Given the description of an element on the screen output the (x, y) to click on. 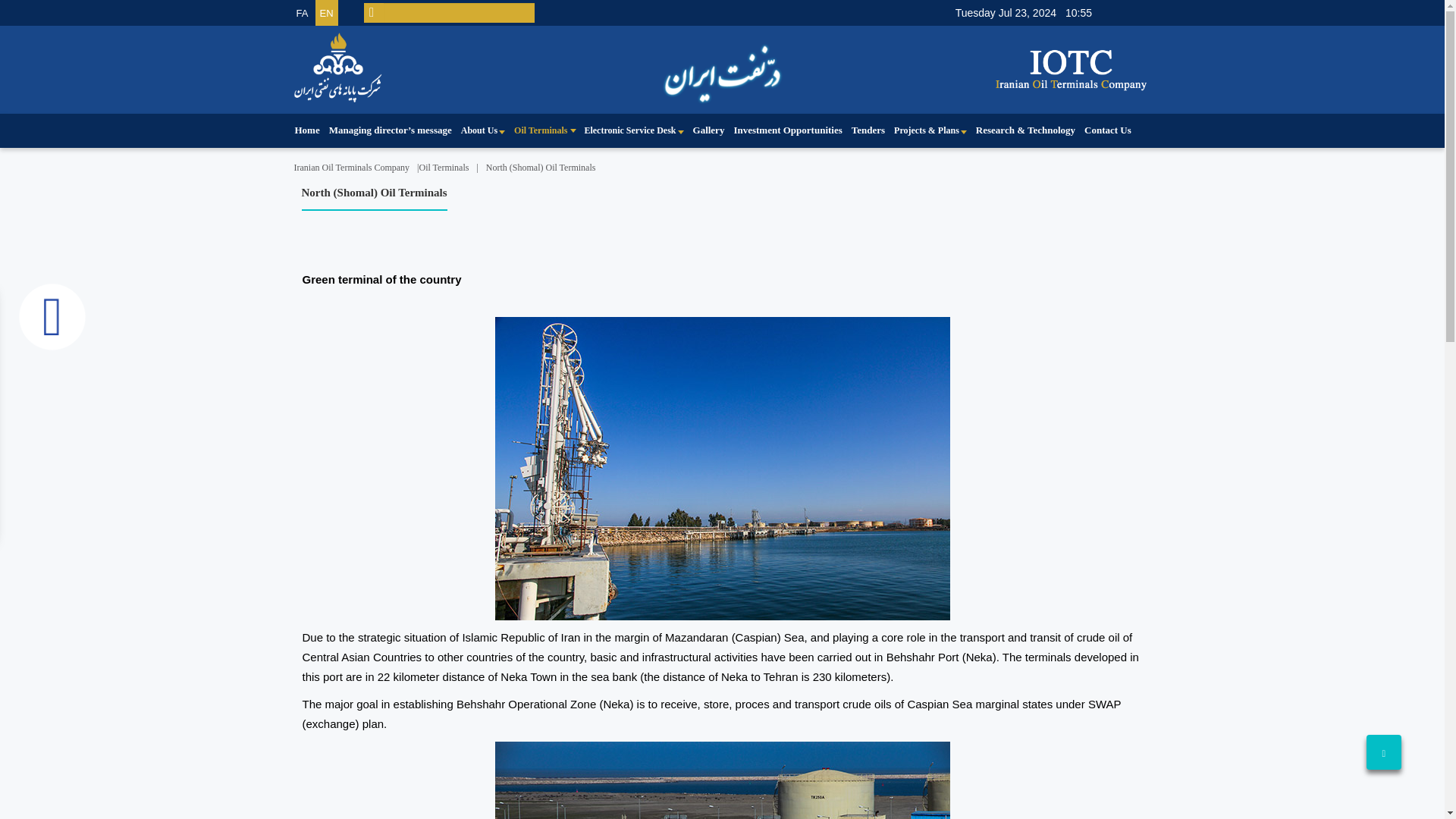
Tools (49, 315)
FA (302, 12)
